Given the description of an element on the screen output the (x, y) to click on. 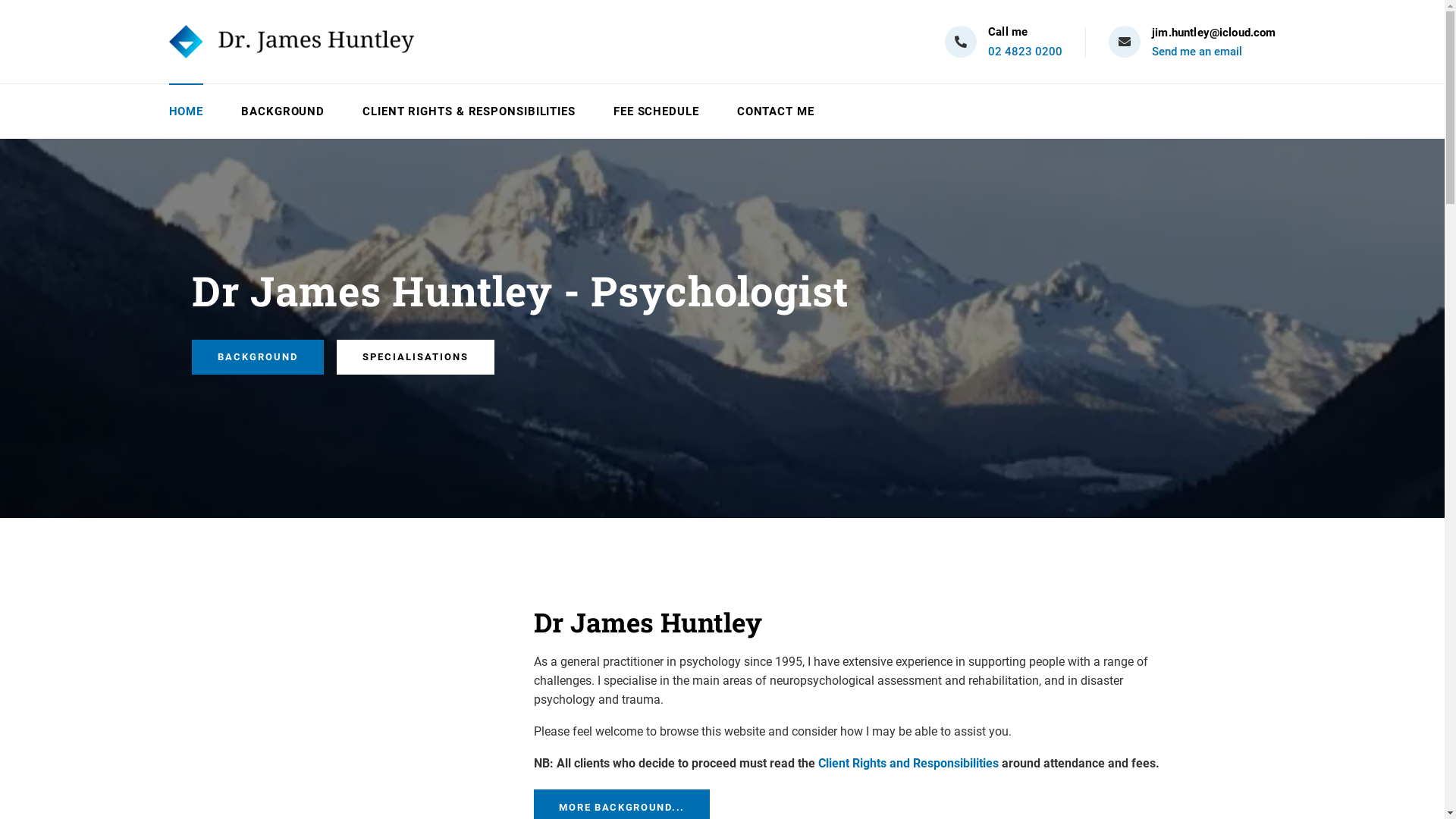
jim.huntley@icloud.com Element type: text (1213, 32)
HOME Element type: text (185, 111)
Client Rights and Responsibilities Element type: text (908, 763)
BACKGROUND Element type: text (282, 111)
FEE SCHEDULE Element type: text (656, 111)
CLIENT RIGHTS & RESPONSIBILITIES Element type: text (468, 111)
Dr James Huntley - Psychologist Element type: hover (291, 40)
CONTACT ME Element type: text (775, 111)
02 4823 0200 Element type: text (1025, 51)
